Given the description of an element on the screen output the (x, y) to click on. 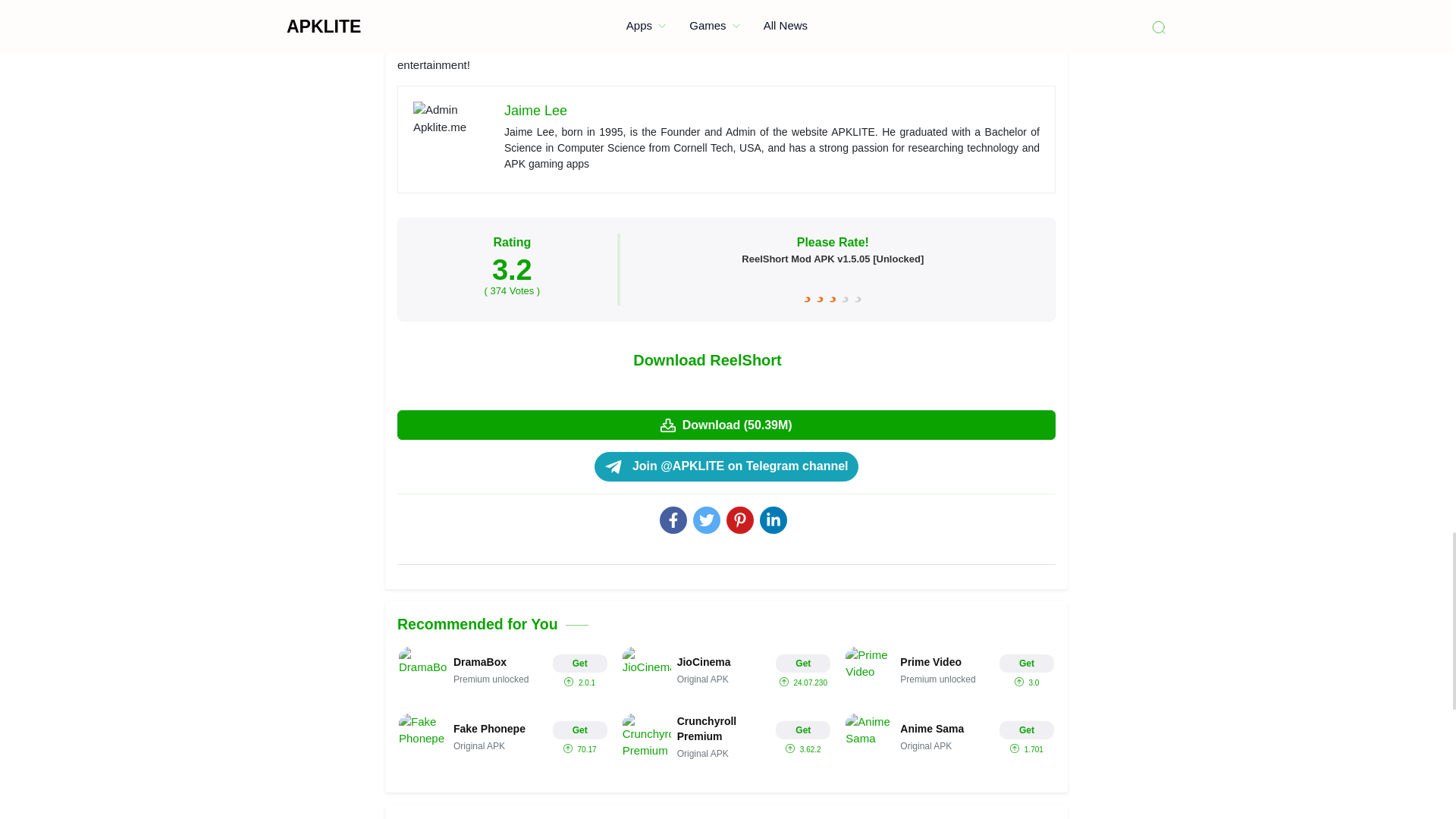
Crunchyroll Premium (727, 737)
DramaBox (502, 671)
Fake Phonepe (502, 737)
Anime Sama (949, 737)
Prime Video (949, 671)
JioCinema (727, 671)
